Given the description of an element on the screen output the (x, y) to click on. 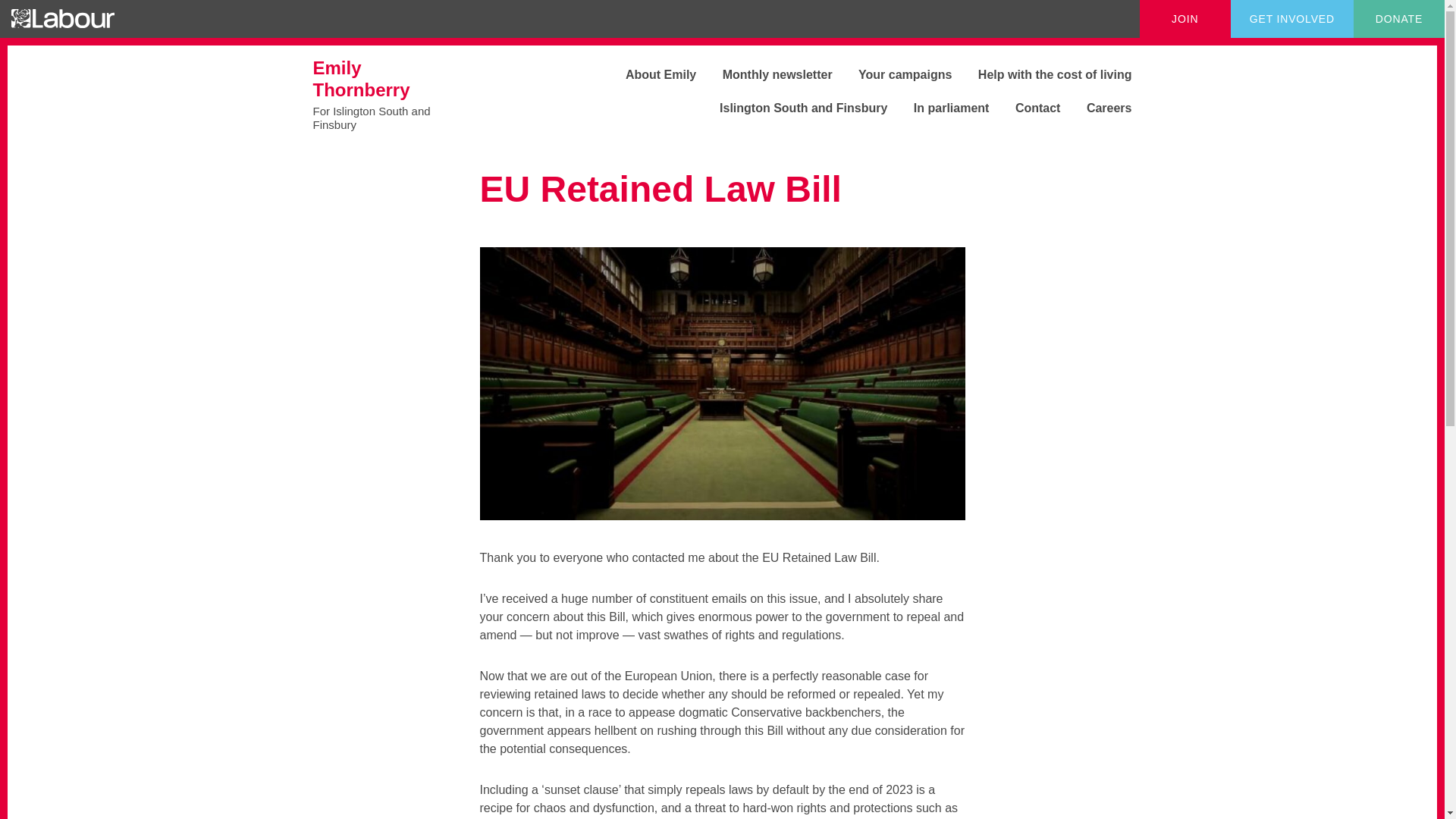
Contact (1026, 107)
Careers (1098, 107)
GET INVOLVED (1292, 18)
Help with the cost of living (1043, 74)
JOIN (1185, 18)
Monthly newsletter (766, 74)
In parliament (940, 107)
About Emily (390, 93)
Islington South and Finsbury (648, 74)
